Given the description of an element on the screen output the (x, y) to click on. 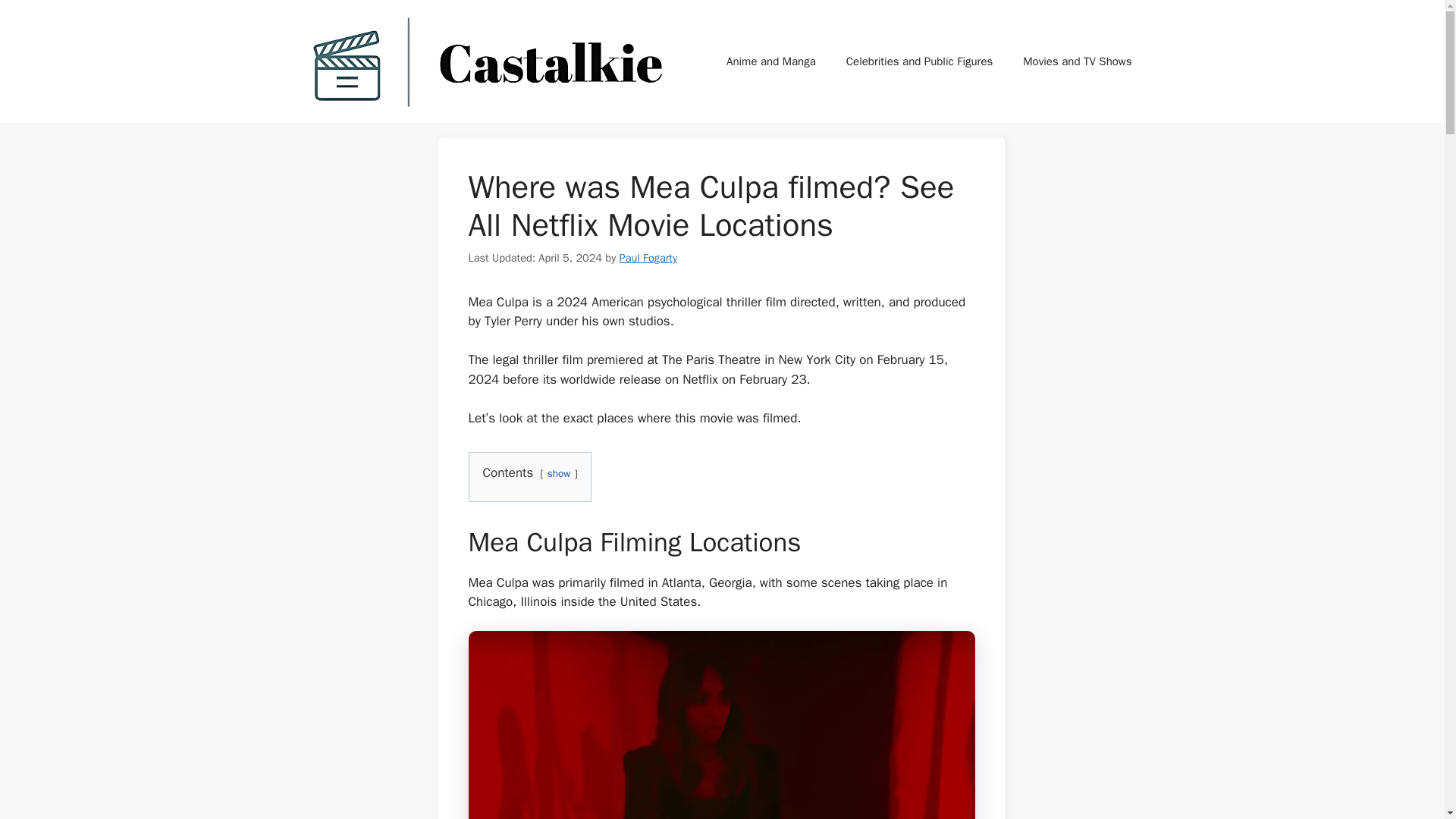
show (558, 472)
View all posts by Paul Fogarty (648, 257)
Movies and TV Shows (1077, 61)
Paul Fogarty (648, 257)
Celebrities and Public Figures (920, 61)
Anime and Manga (771, 61)
Where was Mea Culpa filmed? See All Netflix Movie Locations (721, 724)
